Given the description of an element on the screen output the (x, y) to click on. 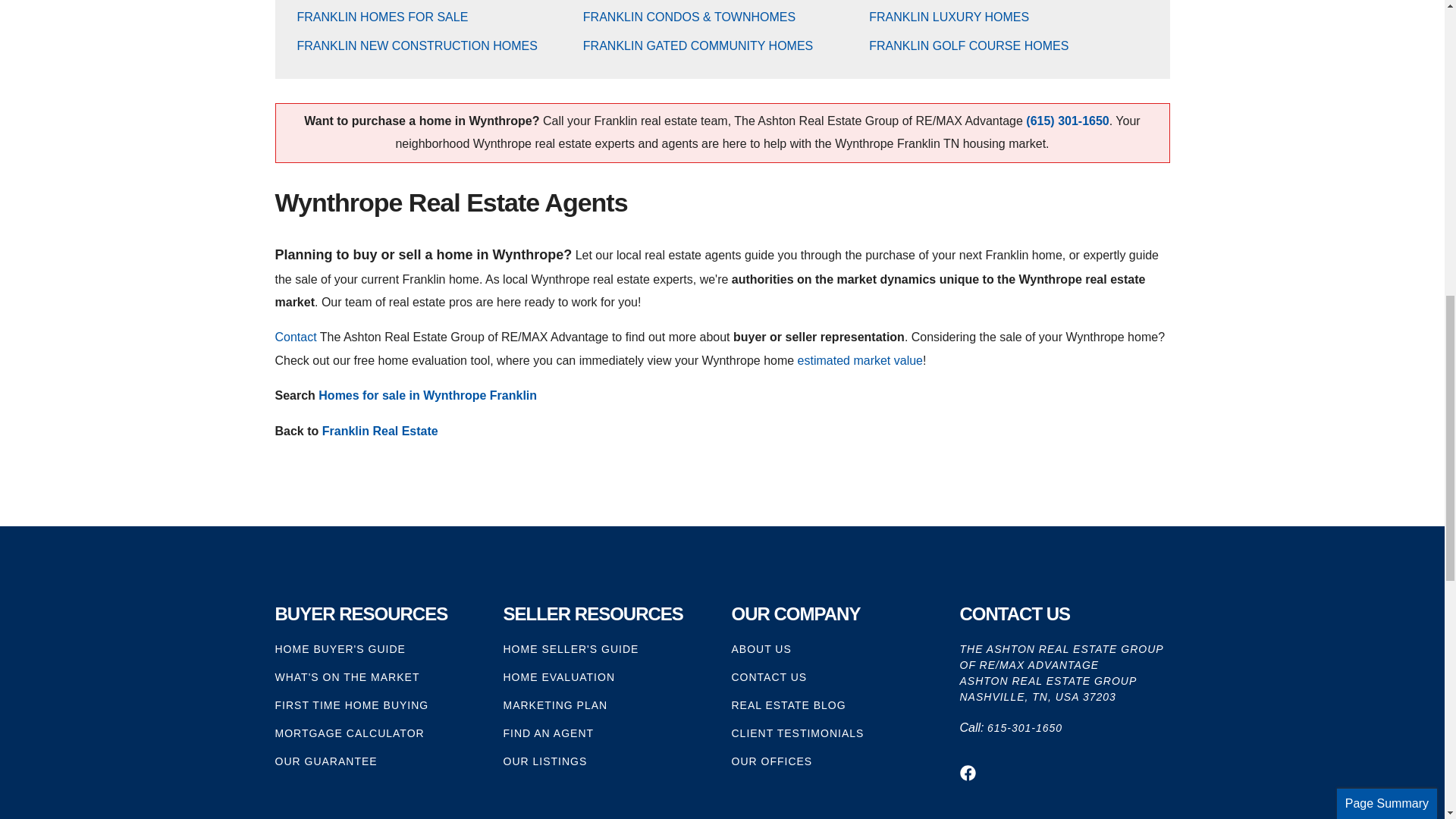
FACEBOOK (967, 772)
Franklin Homes (382, 16)
Franklin Gated Community Homes (697, 45)
Franklin Golf Course Homes (968, 45)
Franklin New Construction Homes (417, 45)
Franklin Luxury Homes (949, 16)
Franklin Condos Townhomes (688, 16)
Contact Us (295, 336)
